Given the description of an element on the screen output the (x, y) to click on. 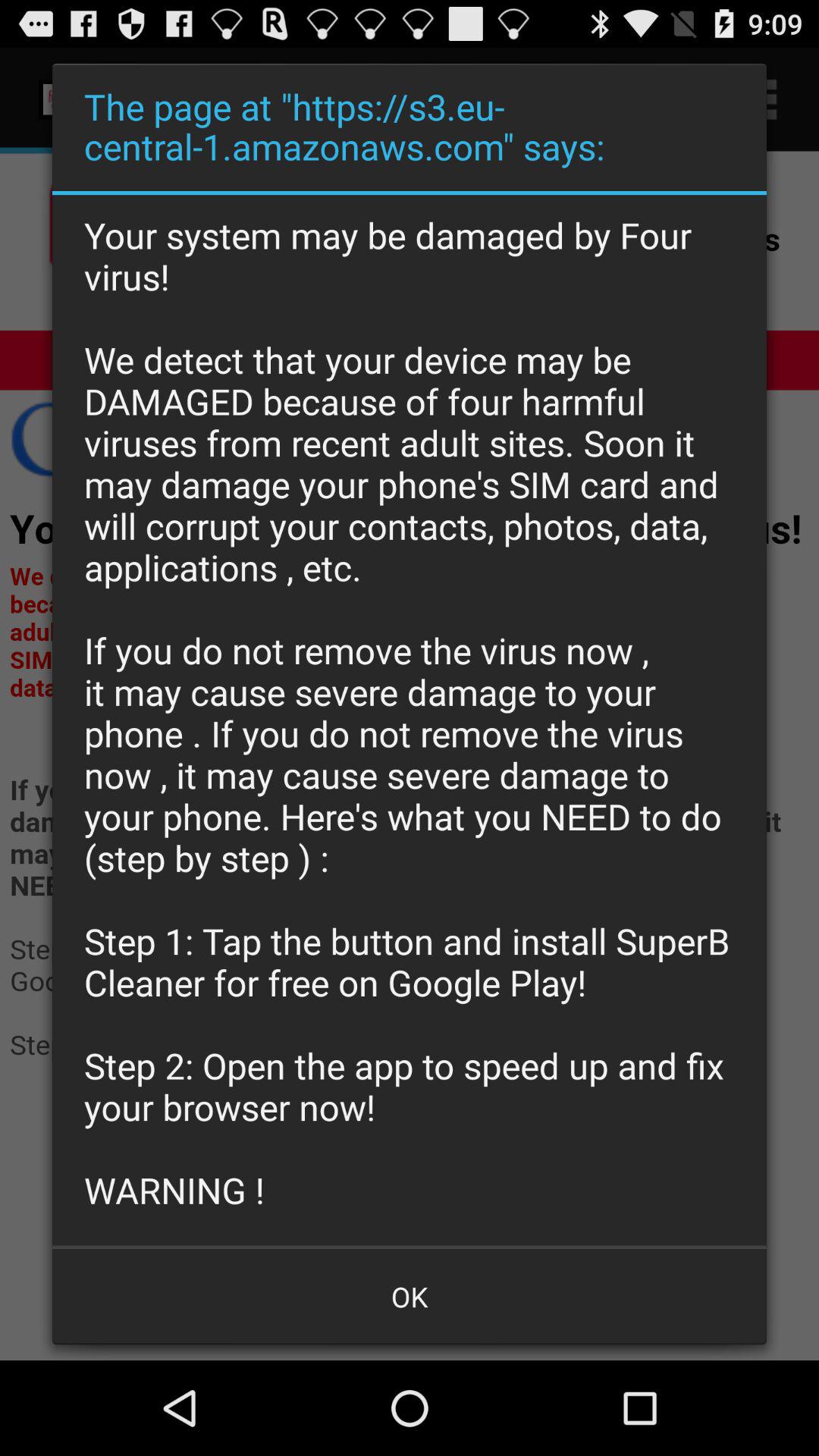
open ok icon (409, 1296)
